Given the description of an element on the screen output the (x, y) to click on. 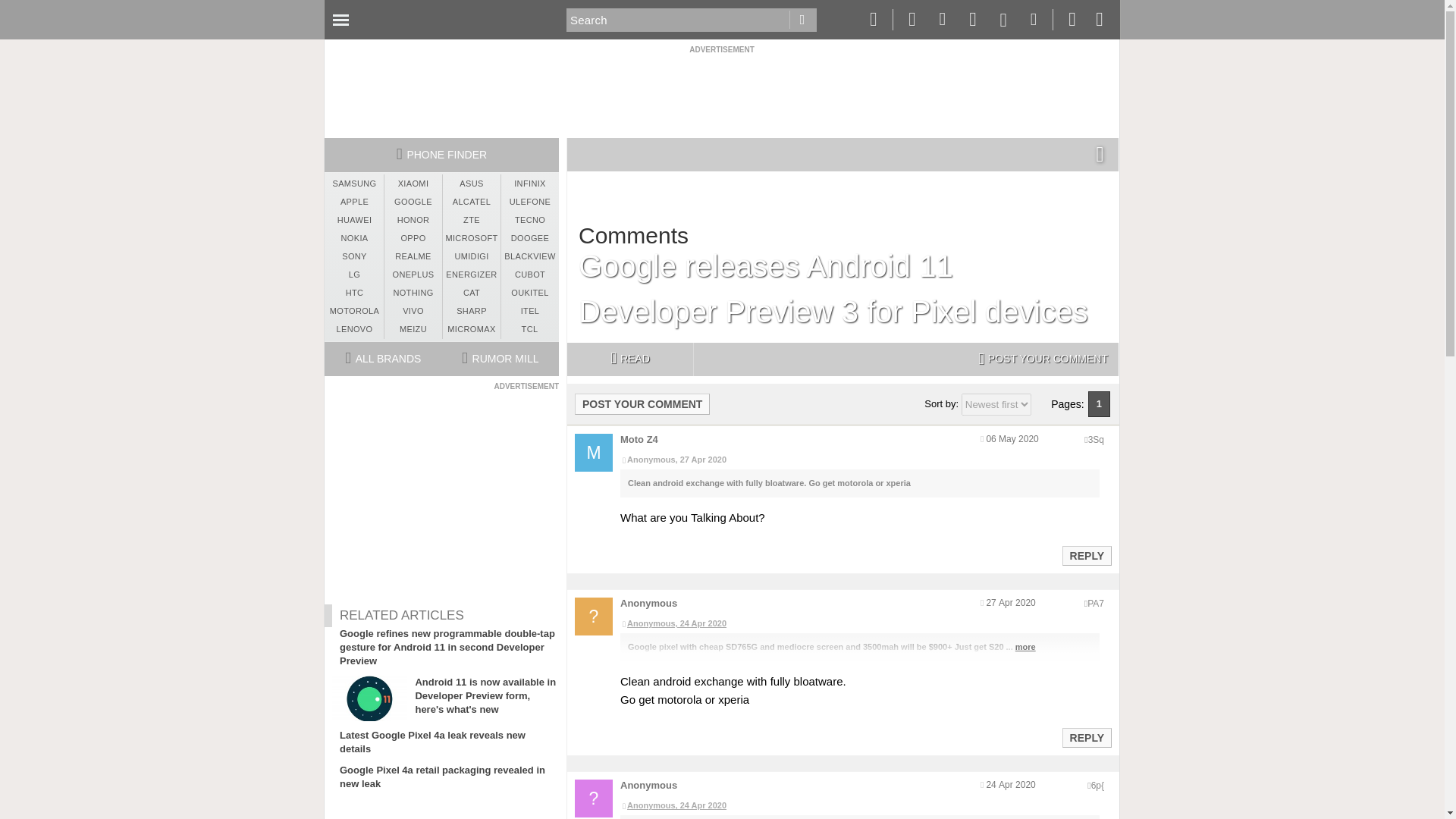
POST YOUR COMMENT (1042, 359)
REPLY (1086, 737)
Encoded anonymized location (1096, 785)
more (1024, 646)
Anonymous, 24 Apr 2020 (859, 806)
Anonymous, 24 Apr 2020 (859, 623)
Reply to this post (1086, 555)
Go (802, 19)
Encoded anonymized location (1095, 439)
Go (802, 19)
READ (630, 359)
Encoded anonymized location (1095, 603)
Sort comments by (995, 404)
REPLY (1086, 556)
POST YOUR COMMENT (642, 403)
